Given the description of an element on the screen output the (x, y) to click on. 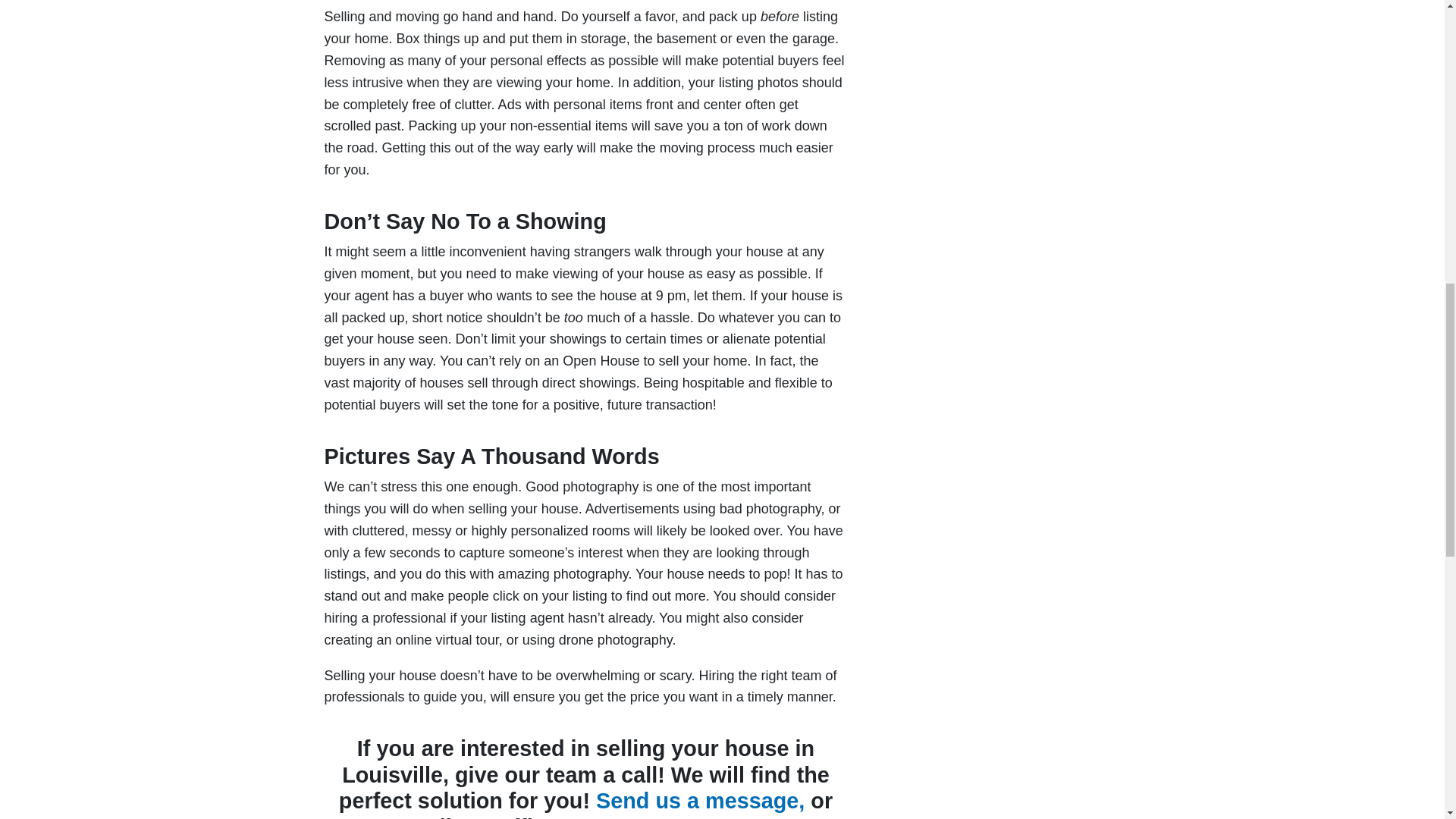
Send us a message, (700, 800)
